Given the description of an element on the screen output the (x, y) to click on. 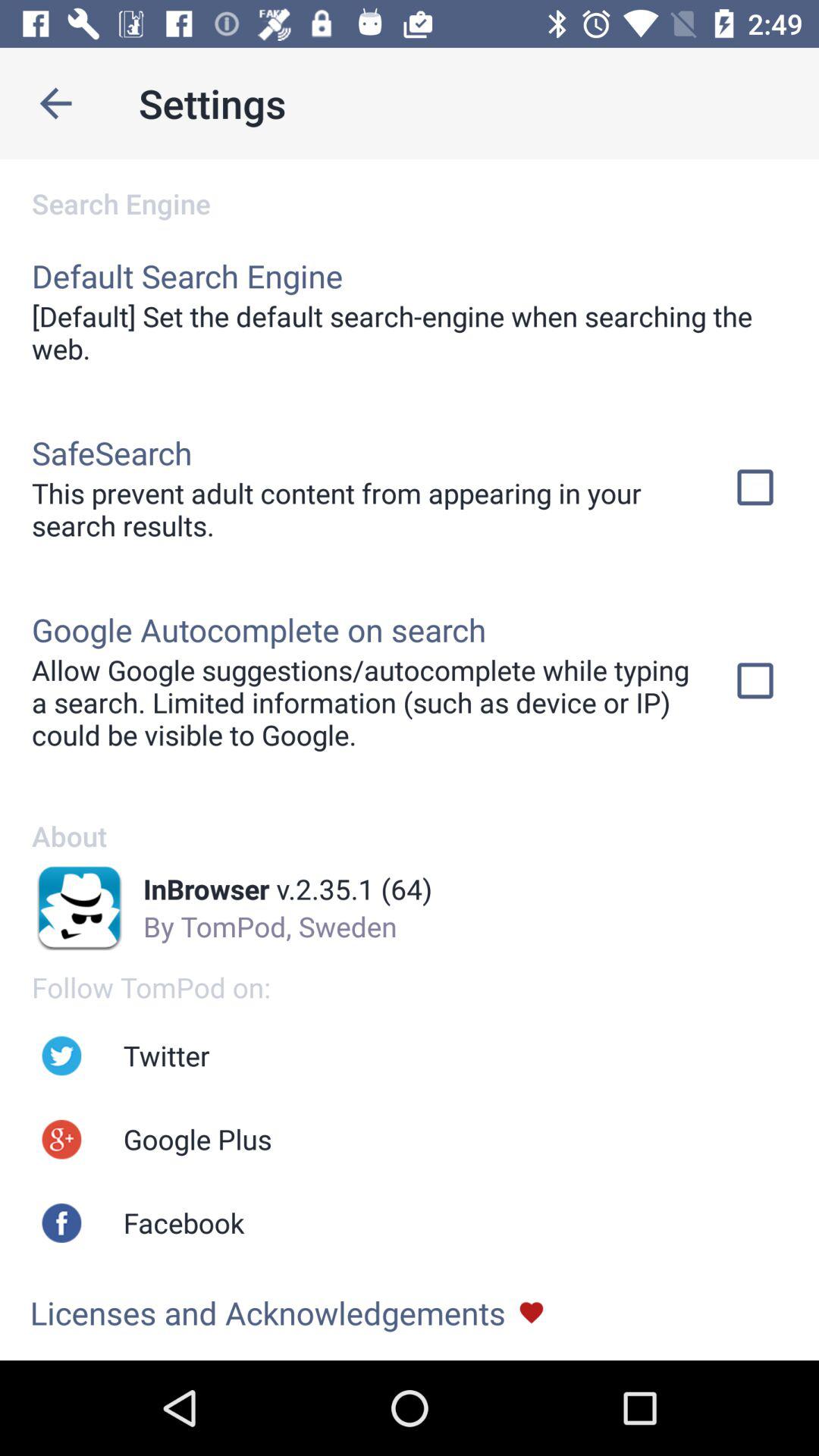
select the check in box which is at the right side to the text google autocomplete on search (755, 681)
click on button facebook (61, 1222)
select the logo beside the text inbrowser (79, 907)
